Given the description of an element on the screen output the (x, y) to click on. 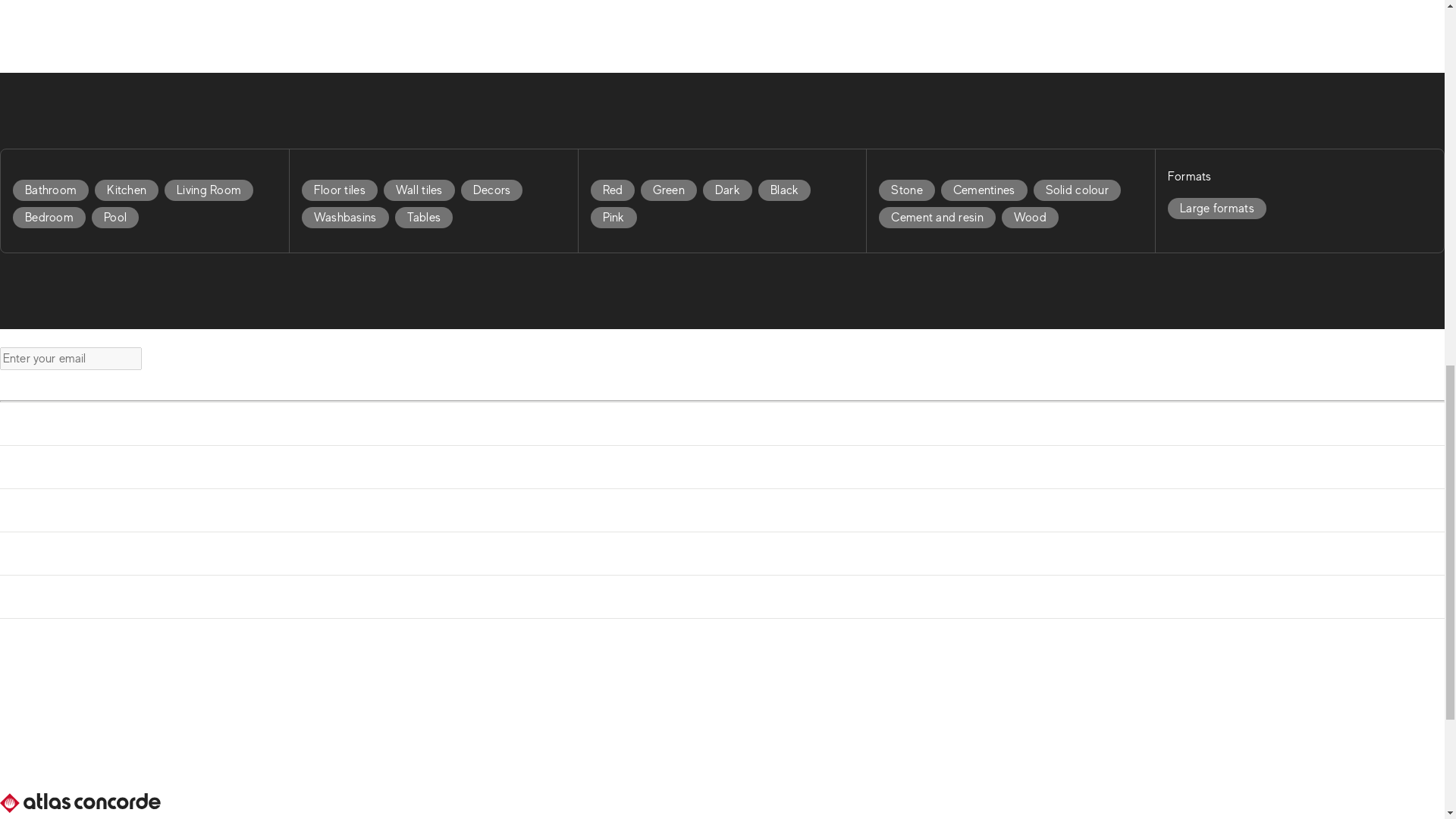
Bathroom (50, 189)
Kitchen (129, 190)
Pool (117, 217)
Bedroom (52, 217)
Decors (491, 189)
Kitchen (126, 189)
Wall tiles (422, 190)
Bathroom (53, 190)
Living Room (208, 189)
Floor tiles (342, 190)
Living Room (211, 190)
Decors (495, 190)
READ MORE (58, 57)
Pool (114, 217)
Floor tiles (339, 189)
